Given the description of an element on the screen output the (x, y) to click on. 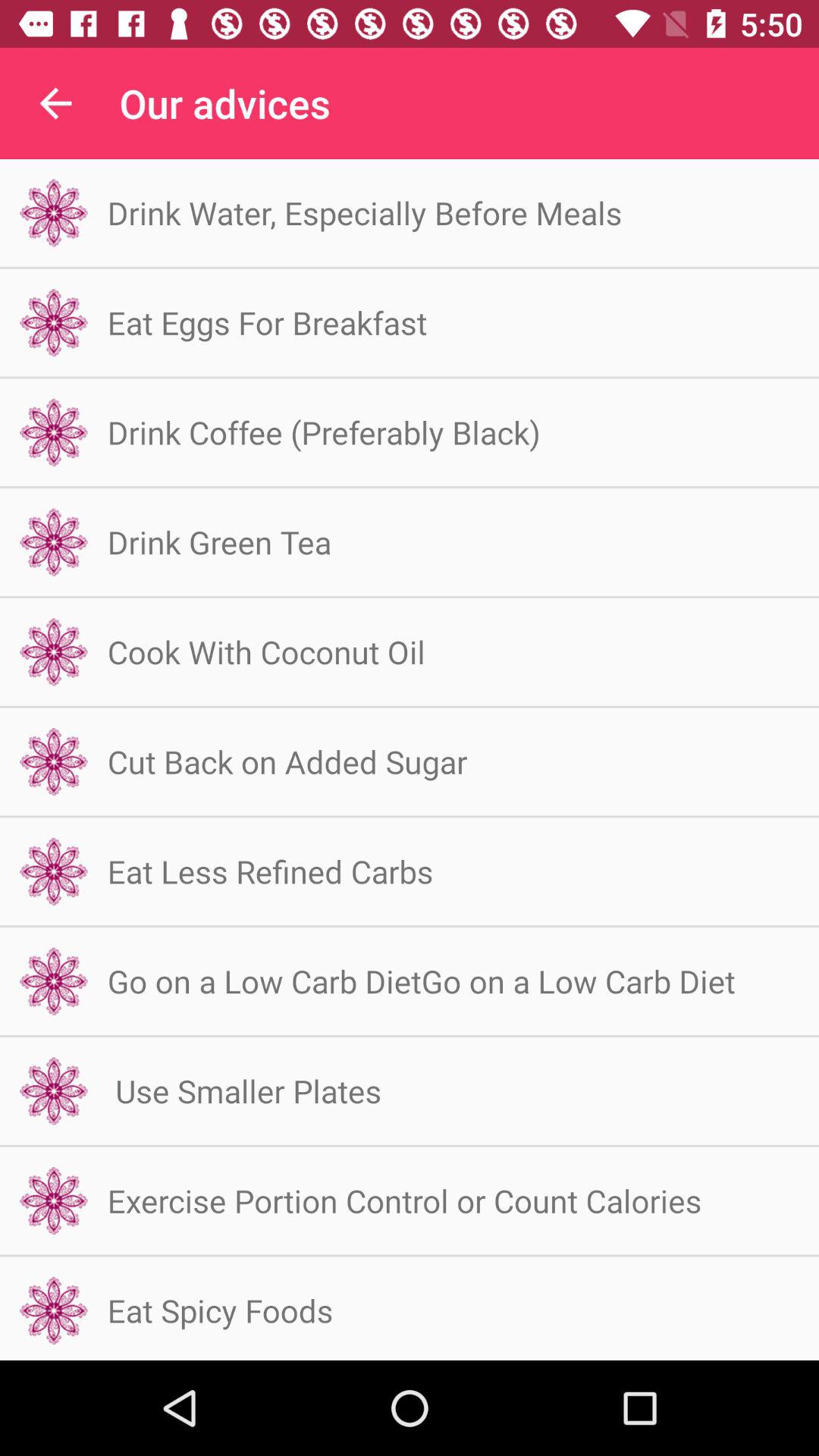
jump to the drink coffee preferably icon (323, 431)
